Given the description of an element on the screen output the (x, y) to click on. 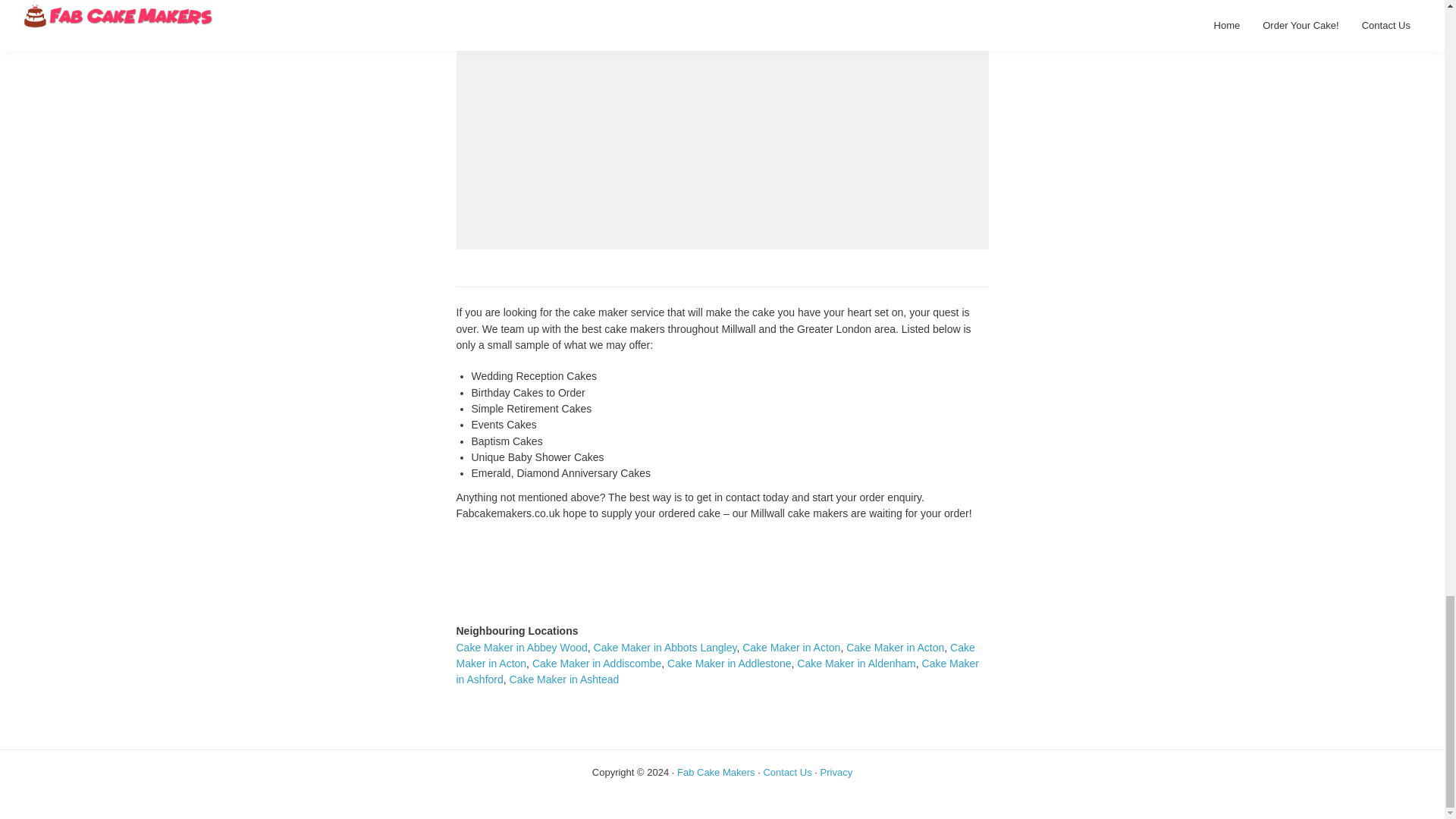
Cake Maker in Ashford (717, 671)
Cake Maker in Abbots Langley (665, 647)
Fab Cake Makers (716, 772)
Cake Maker in Acton (894, 647)
Privacy (837, 772)
Cake Maker in Acton (791, 647)
Cake Maker in Abbey Wood (522, 647)
Cake Maker in Acton (716, 655)
Contact Us (786, 772)
Click Here to Get Started! (722, 544)
Cake Maker in Ashtead (564, 679)
Cake Maker in Aldenham (855, 663)
Cake Maker in Addiscombe (596, 663)
Cake Maker in Addlestone (728, 663)
